Given the description of an element on the screen output the (x, y) to click on. 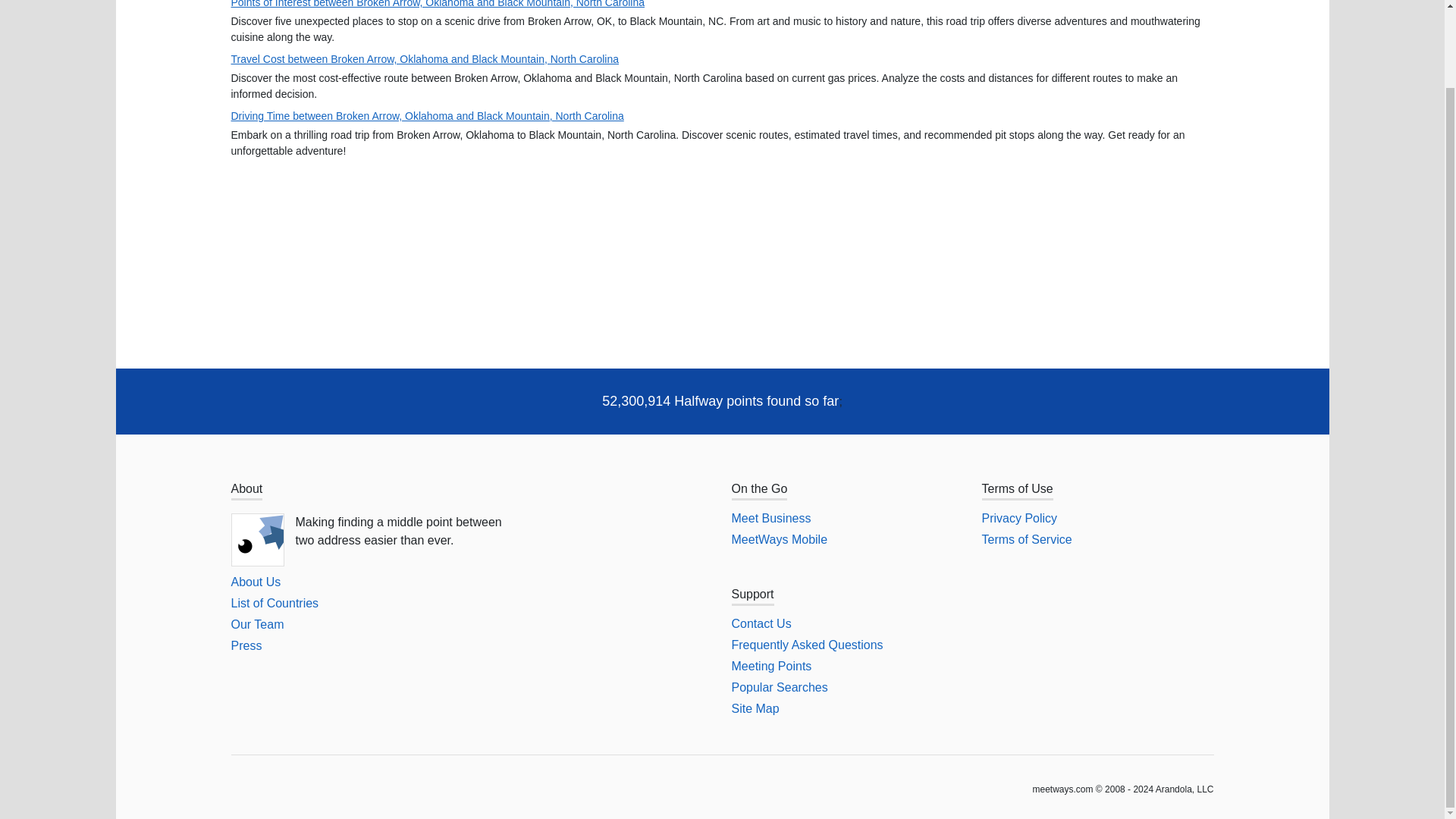
Site Map (754, 707)
Our Team (256, 624)
Popular Searches (778, 686)
Frequently Asked Questions (806, 644)
Meet Business (770, 517)
Contact Us (760, 623)
About Us (255, 581)
Terms of Service (1026, 539)
Press (246, 645)
